Given the description of an element on the screen output the (x, y) to click on. 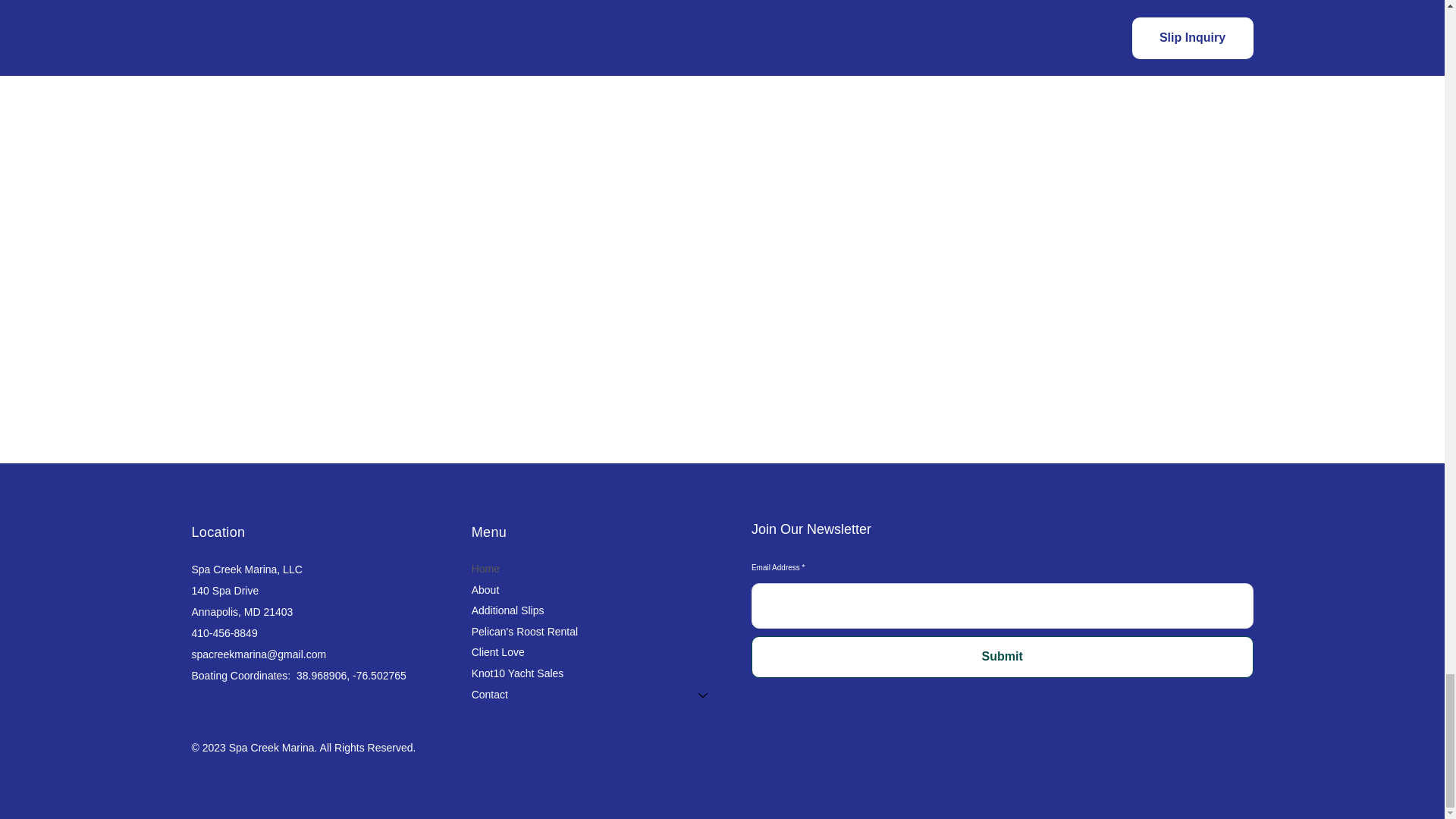
Knot10 Yacht Sales (596, 673)
Client Love (596, 652)
Pelican's Roost Rental (596, 631)
Submit (1002, 657)
Home (596, 568)
Contact (577, 694)
Additional Slips (596, 610)
About (596, 590)
